Given the description of an element on the screen output the (x, y) to click on. 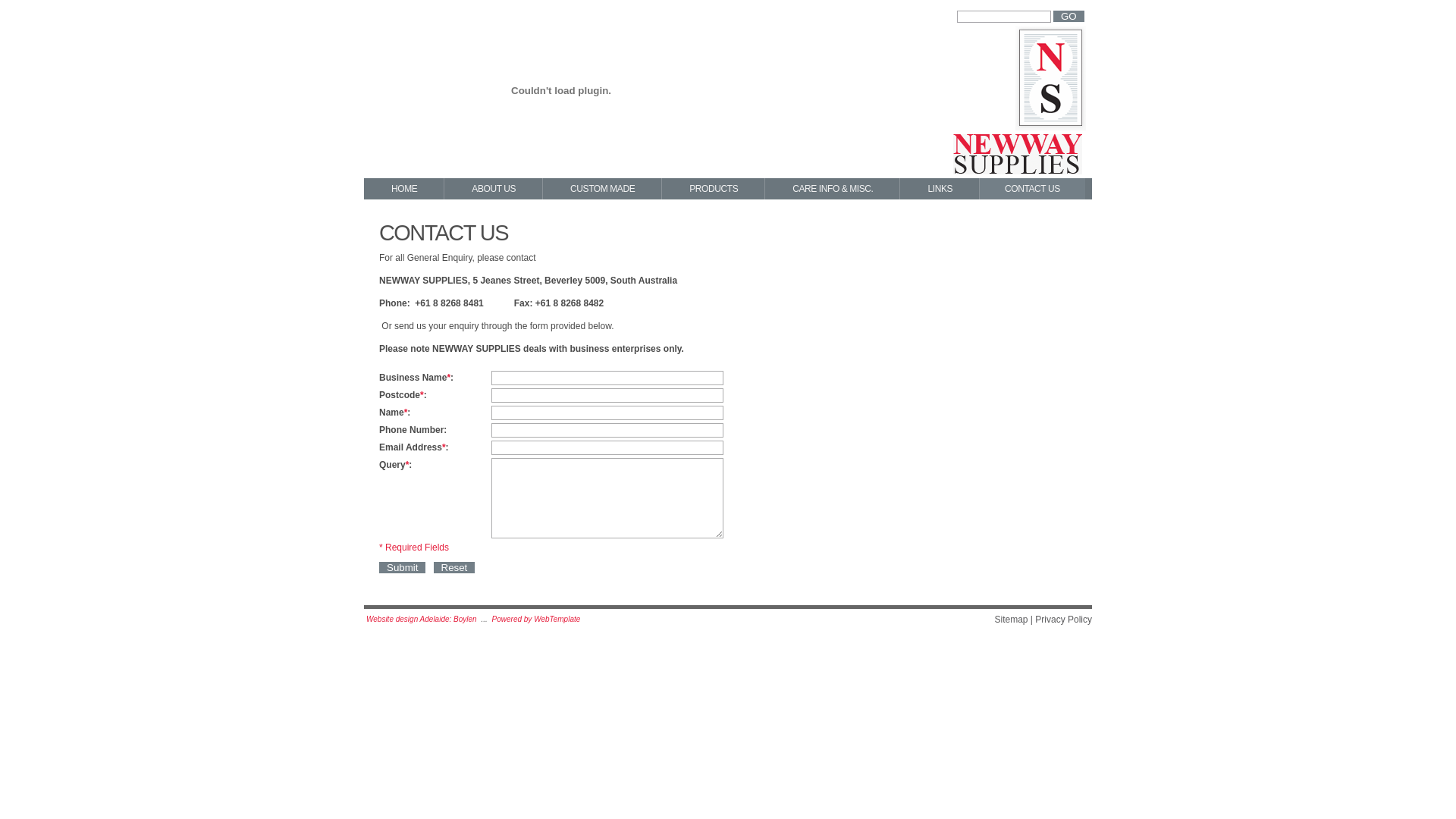
PRODUCTS Element type: text (713, 188)
HOME Element type: text (403, 188)
LINKS Element type: text (939, 188)
CONTACT US Element type: text (1032, 188)
Sitemap Element type: text (1010, 619)
New Way Supplies Element type: hover (1019, 105)
ABOUT US Element type: text (493, 188)
Website design Adelaide: Boylen Element type: text (421, 619)
Submit Element type: text (402, 567)
CUSTOM MADE Element type: text (601, 188)
Privacy Policy Element type: text (1063, 619)
GO Element type: text (1068, 15)
Powered by WebTemplate Element type: text (536, 619)
CARE INFO & MISC. Element type: text (832, 188)
